Given the description of an element on the screen output the (x, y) to click on. 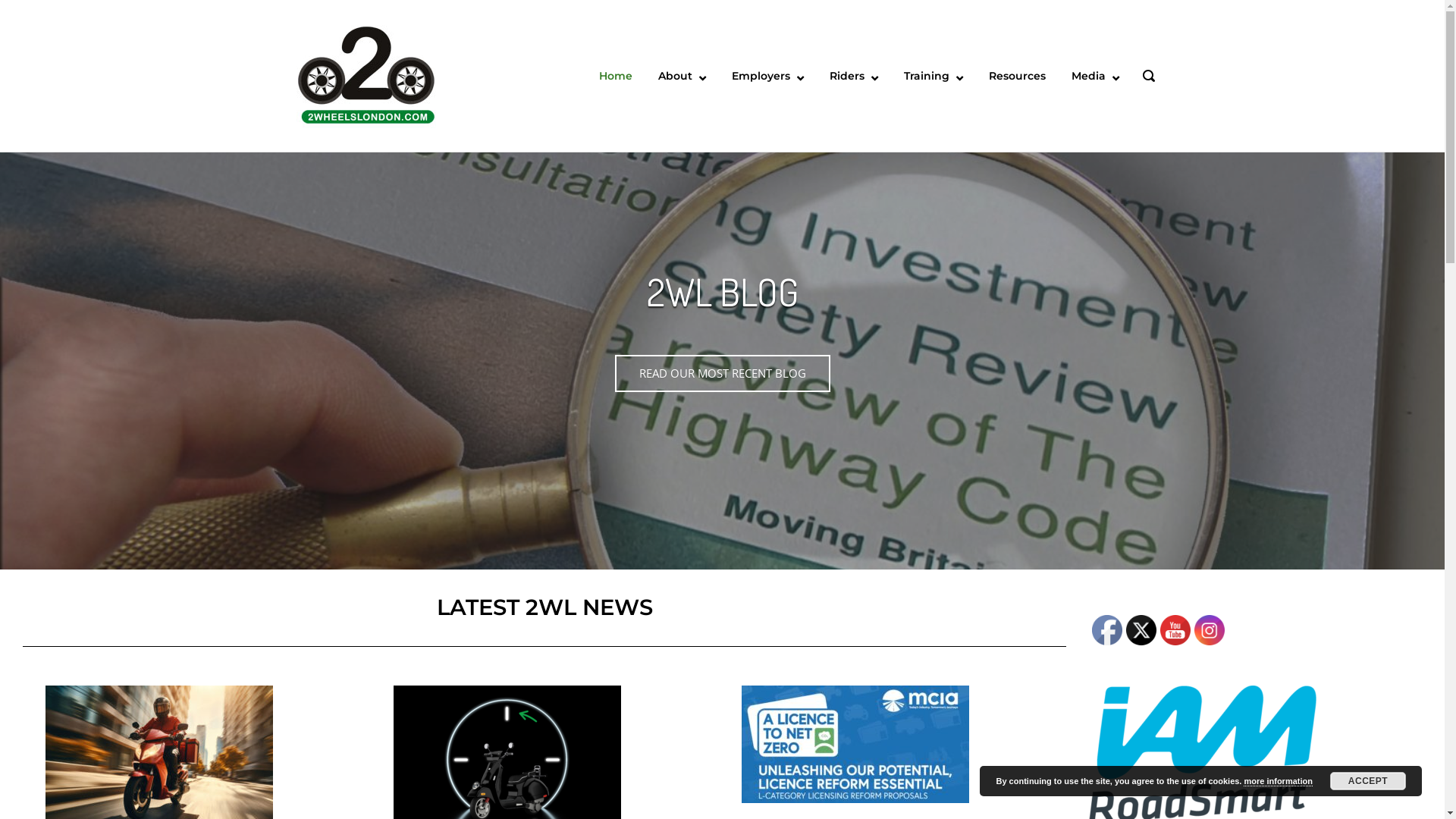
Training Element type: text (933, 75)
Employers Element type: text (767, 75)
Home Element type: text (365, 73)
Media Element type: text (1094, 75)
MORE Element type: text (722, 413)
OPEN SEARCH BAR Element type: text (1148, 76)
Facebook Element type: hover (1107, 630)
Instagram Element type: hover (1209, 630)
more information Element type: text (1277, 781)
About Element type: text (682, 75)
Resources Element type: text (1016, 75)
Riders Element type: text (853, 75)
Twitter Element type: hover (1141, 630)
ACCEPT Element type: text (1367, 780)
YouTube Element type: hover (1175, 630)
Home Element type: text (615, 75)
